Given the description of an element on the screen output the (x, y) to click on. 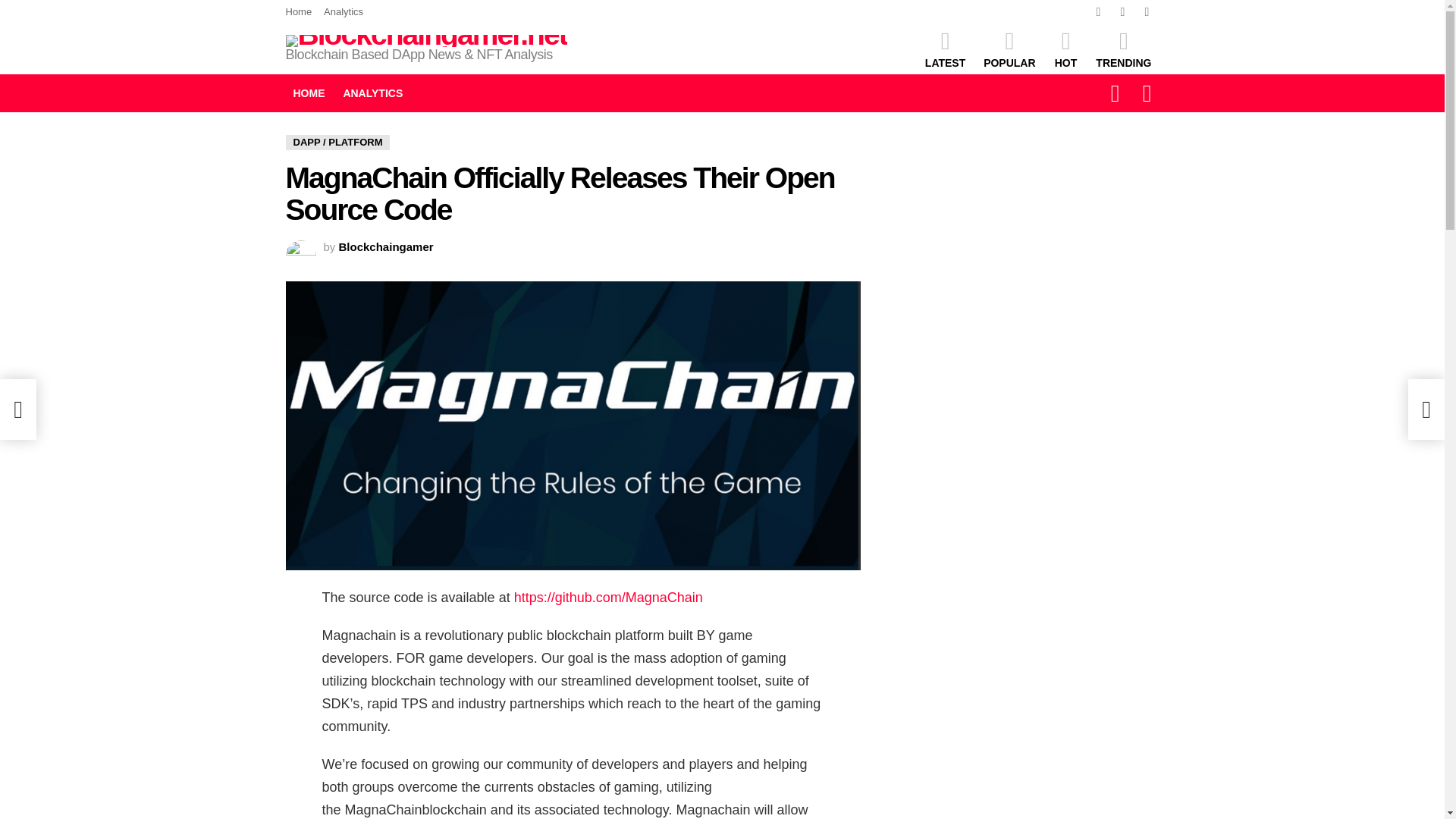
TRENDING (1122, 48)
Analytics (342, 12)
POPULAR (1008, 48)
Blockchaingamer (386, 246)
Home (298, 12)
HOME (308, 92)
LATEST (944, 48)
YouTube (1146, 11)
HOT (1064, 48)
Twitter (1121, 11)
